Given the description of an element on the screen output the (x, y) to click on. 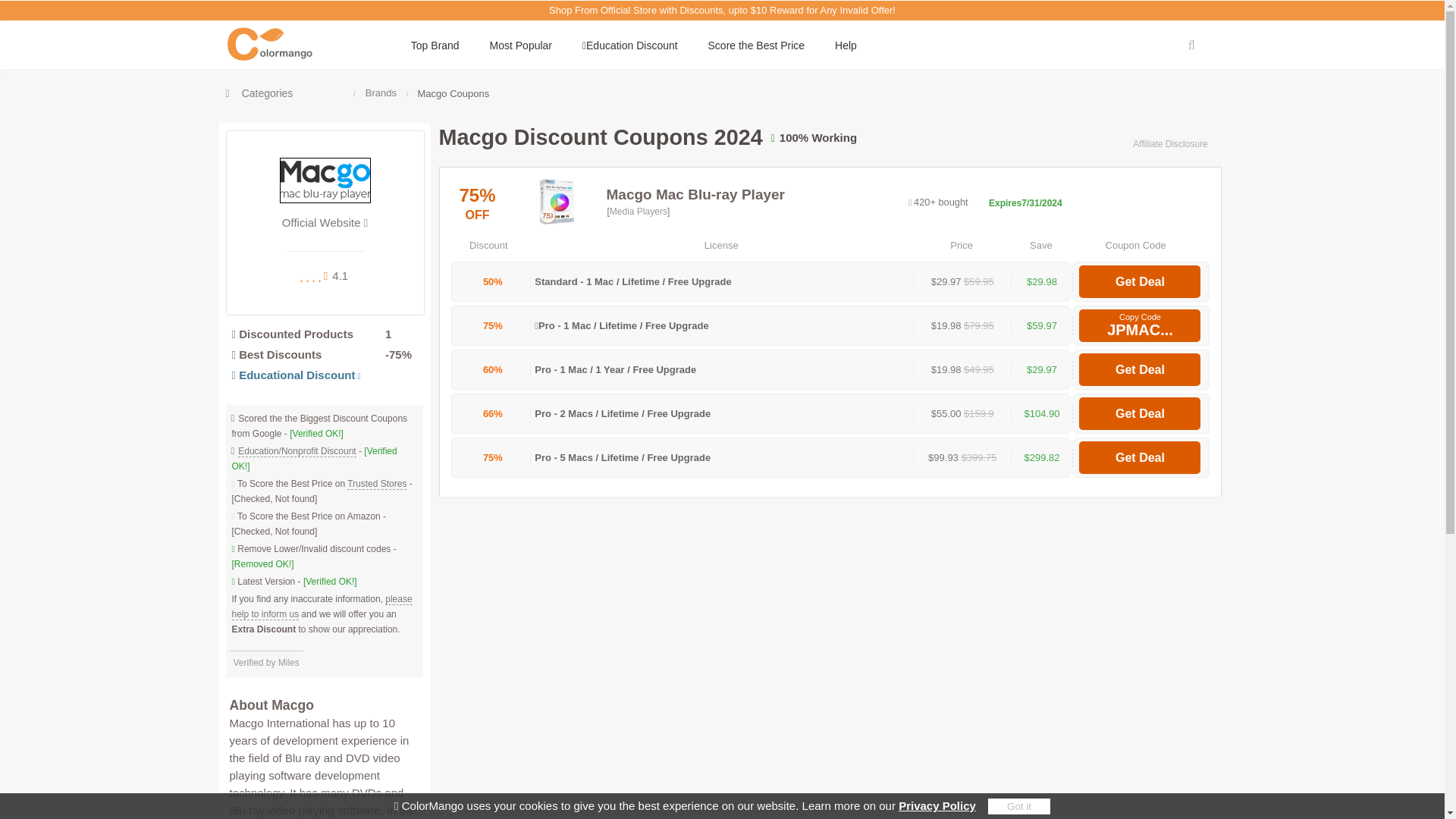
Score the Best Price (756, 45)
Top Brand (435, 45)
Categories (259, 92)
Visit the developer official website (324, 218)
Got it (1018, 806)
Most Popular (520, 45)
Privacy Policy (936, 805)
Full Product Directory (259, 92)
